Given the description of an element on the screen output the (x, y) to click on. 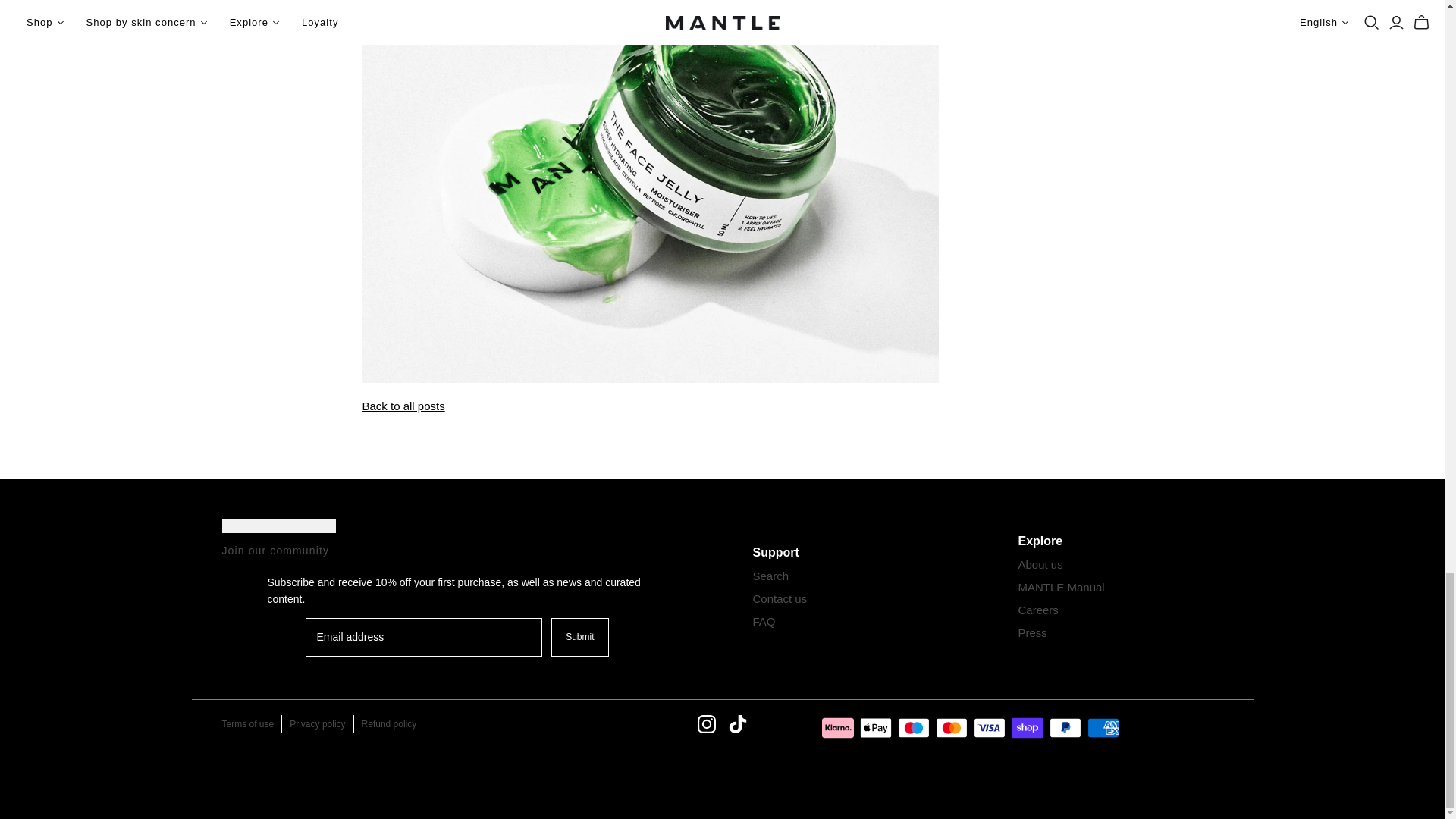
Mastercard (952, 727)
Shop Pay (1027, 727)
Apple Pay (875, 727)
PayPal (1065, 727)
Visa (990, 727)
American Express (1103, 727)
Klarna (837, 727)
Back to all posts (403, 405)
Maestro (914, 727)
